Given the description of an element on the screen output the (x, y) to click on. 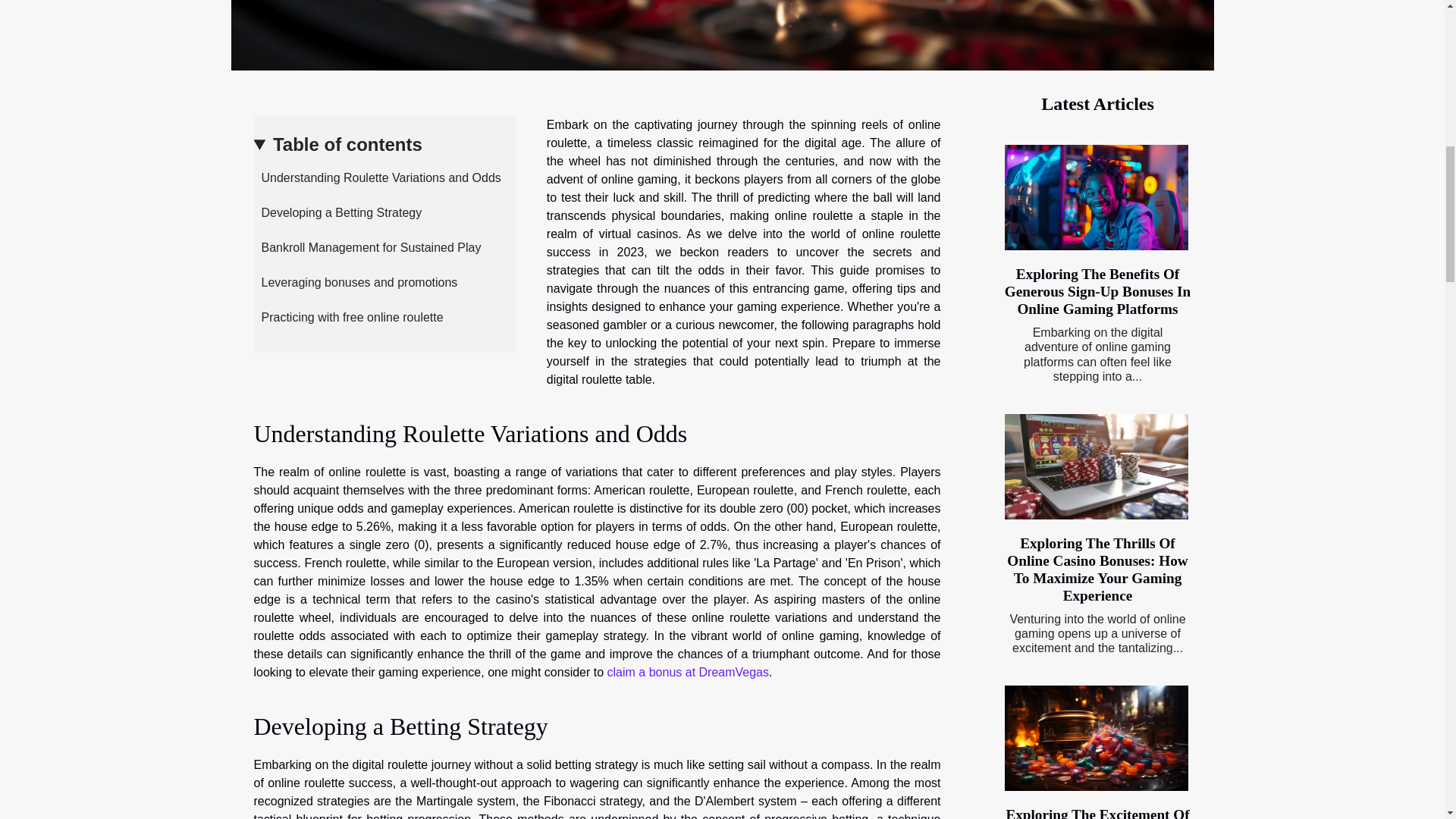
claim a bonus at DreamVegas (687, 671)
Practicing with free online roulette (347, 317)
Bankroll Management for Sustained Play (366, 246)
Developing a Betting Strategy (337, 212)
Understanding Roulette Variations and Odds (376, 177)
Leveraging bonuses and promotions (355, 282)
